Given the description of an element on the screen output the (x, y) to click on. 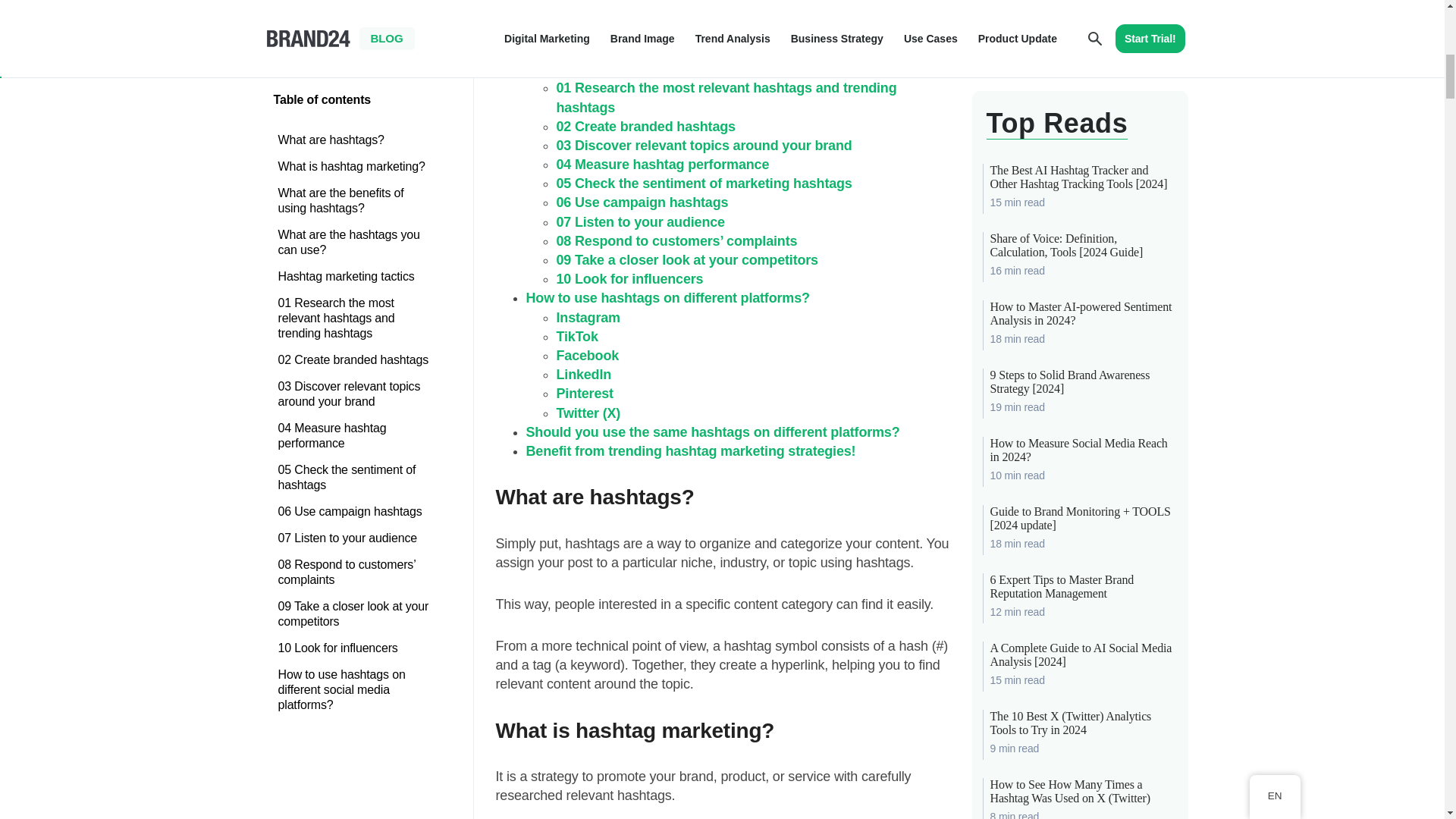
10 Look for influencers (356, 178)
How to use hashtags on different social media platforms? (356, 220)
07 Listen to your audience (356, 68)
Hashtags on TikTok (356, 288)
09 Take a closer look at your competitors (356, 144)
05 Check the sentiment of hashtags (356, 13)
Hashtags on Instagram (356, 262)
06 Use campaign hashtags (356, 42)
